Given the description of an element on the screen output the (x, y) to click on. 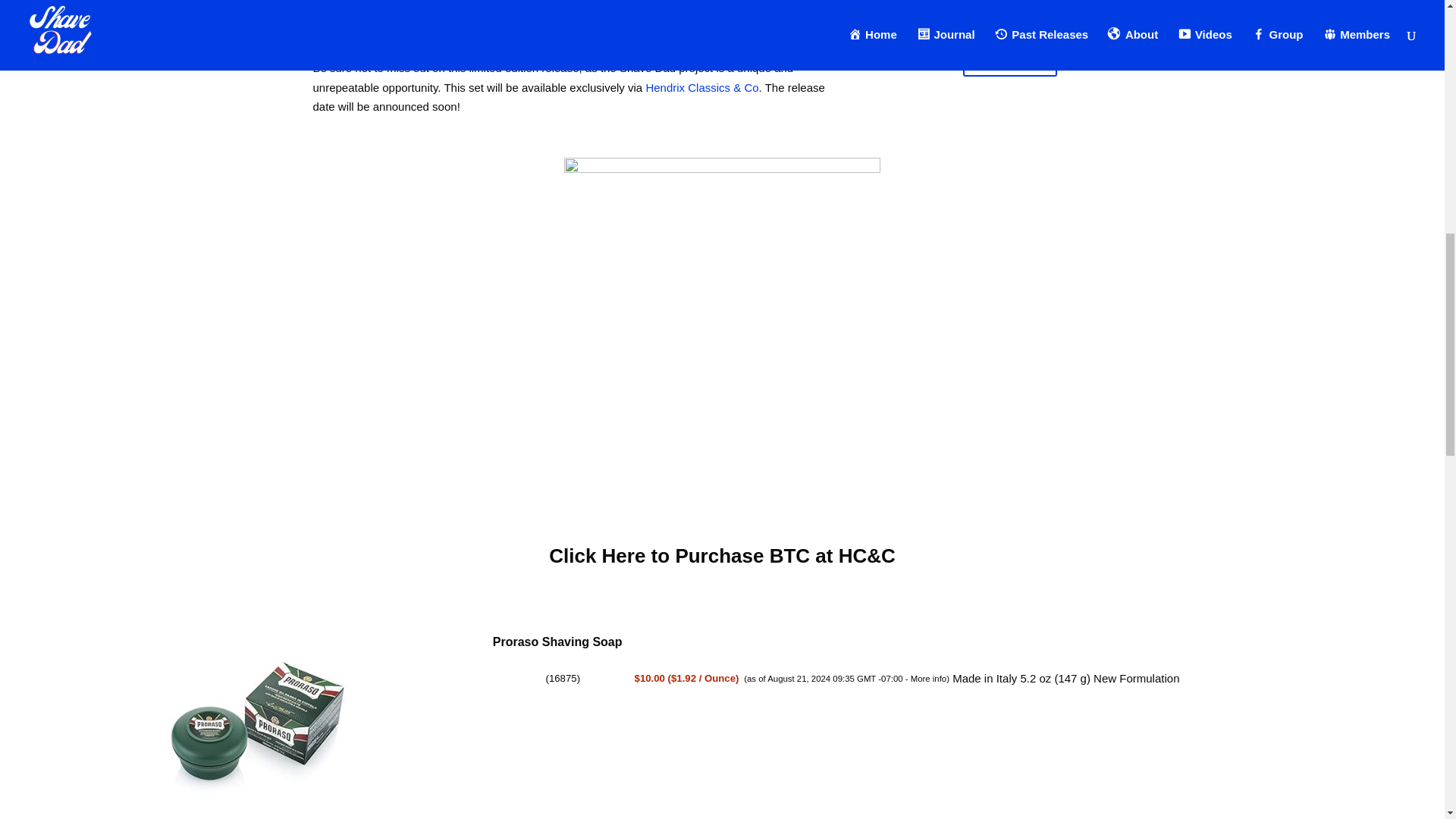
Buy Now (1009, 57)
16875 (562, 677)
Proraso Shaving Soap (558, 641)
Shave Dad - Tattoo Series - BTC - Soap (1009, 7)
More info (928, 678)
